Given the description of an element on the screen output the (x, y) to click on. 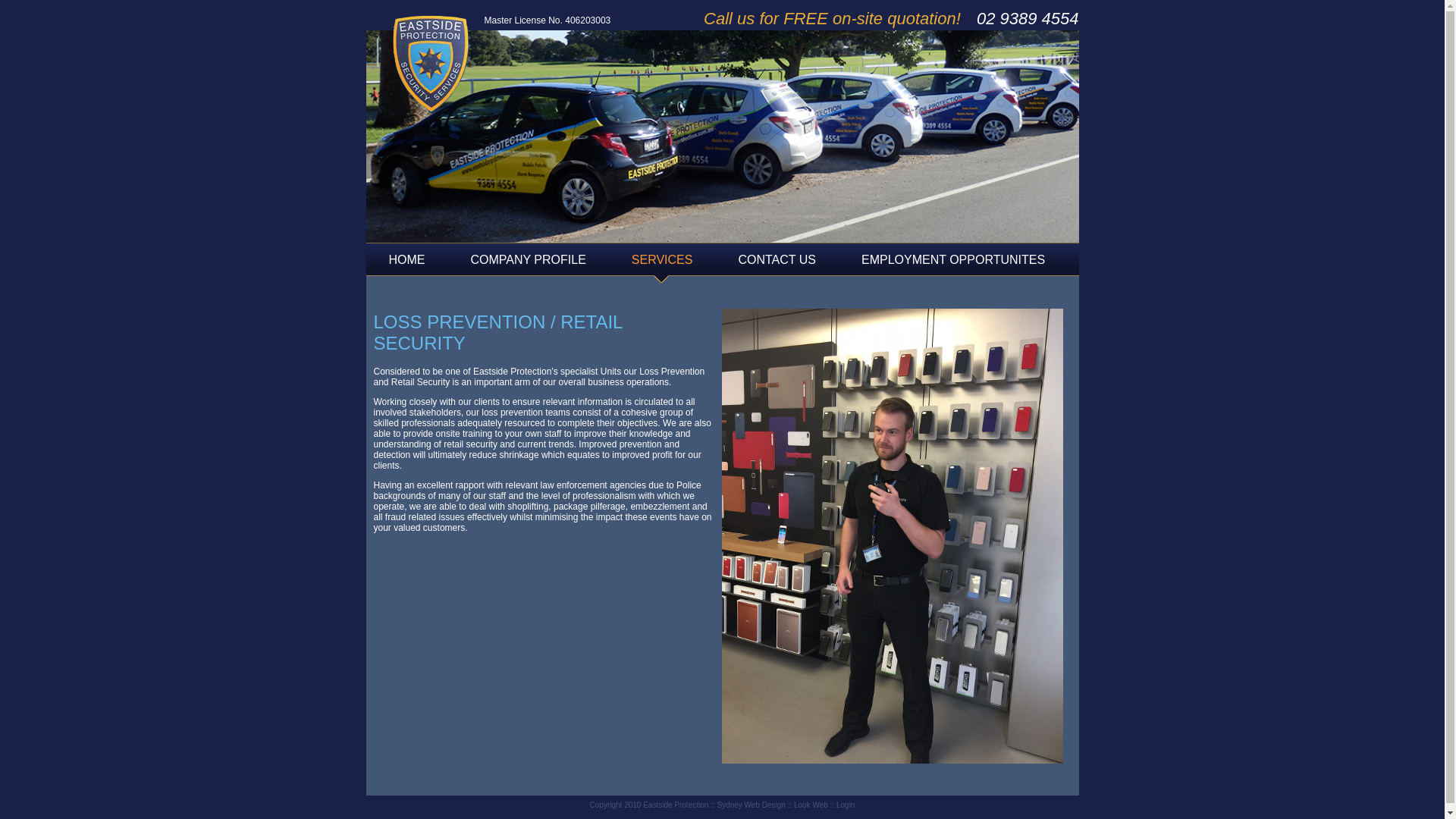
EMPLOYMENT OPPORTUNITES Element type: text (952, 263)
Sydney Web Design Element type: text (750, 804)
CONTACT US Element type: text (776, 263)
SERVICES Element type: text (662, 263)
COMPANY PROFILE Element type: text (527, 263)
Login Element type: text (845, 804)
HOME Element type: text (406, 263)
Look Web Element type: text (810, 804)
